Given the description of an element on the screen output the (x, y) to click on. 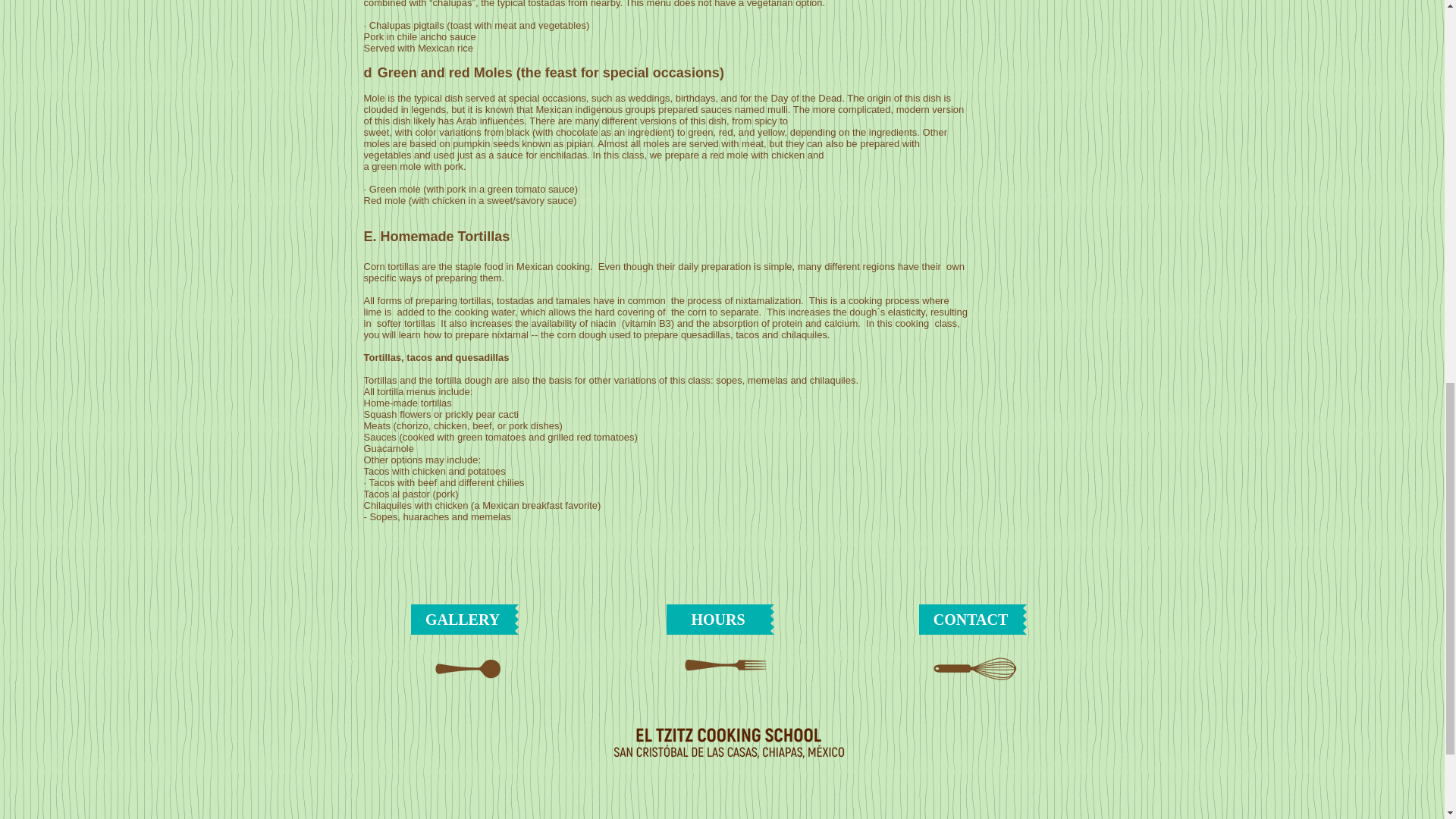
GALLERY (462, 619)
HOURS (717, 619)
CONTACT (970, 619)
